Given the description of an element on the screen output the (x, y) to click on. 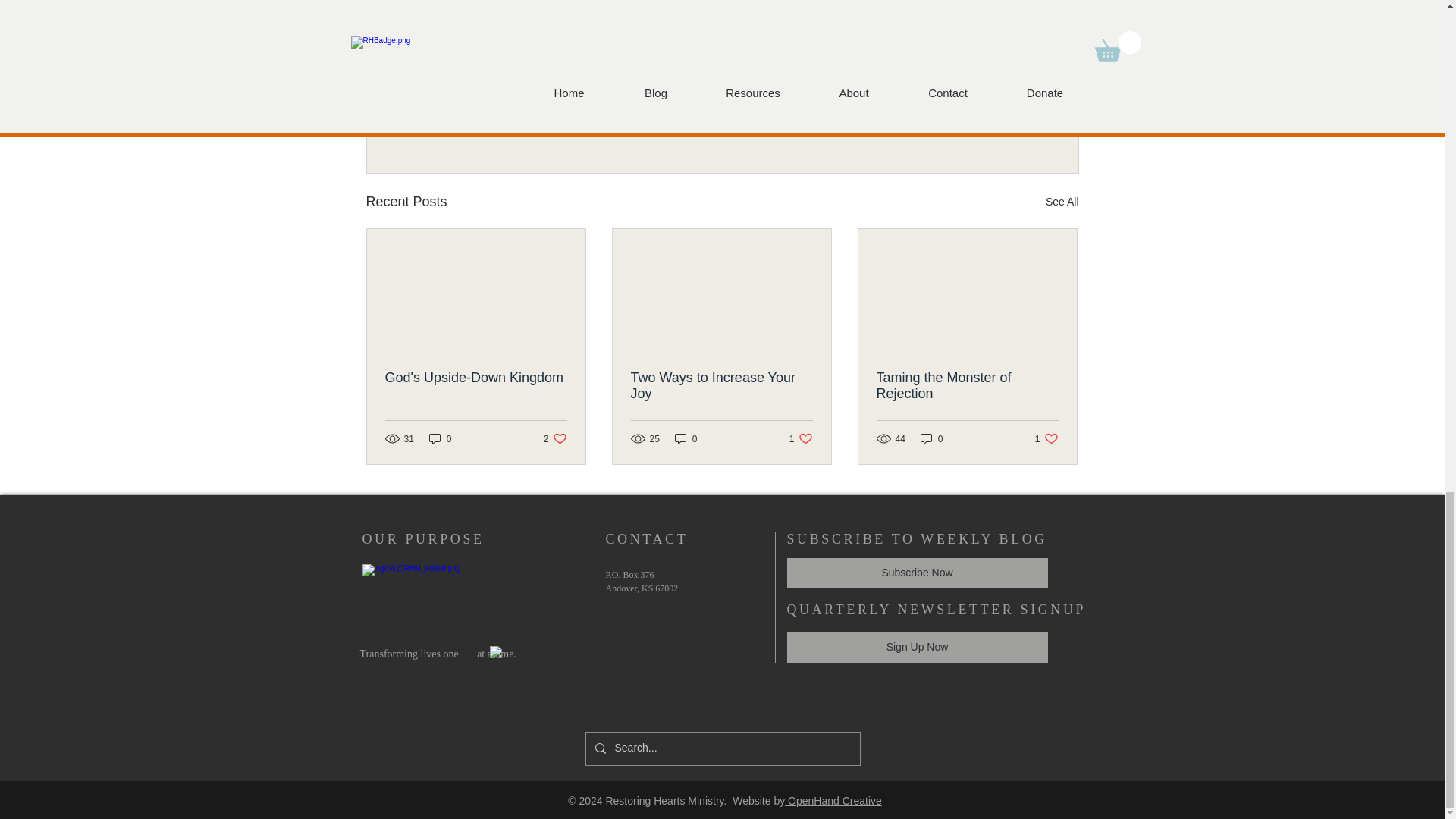
Taming the Monster of Rejection (967, 386)
0 (555, 438)
See All (685, 438)
Two Ways to Increase Your Joy (1061, 201)
God's Upside-Down Kingdom (721, 386)
0 (476, 377)
Post not marked as liked (440, 438)
